Given the description of an element on the screen output the (x, y) to click on. 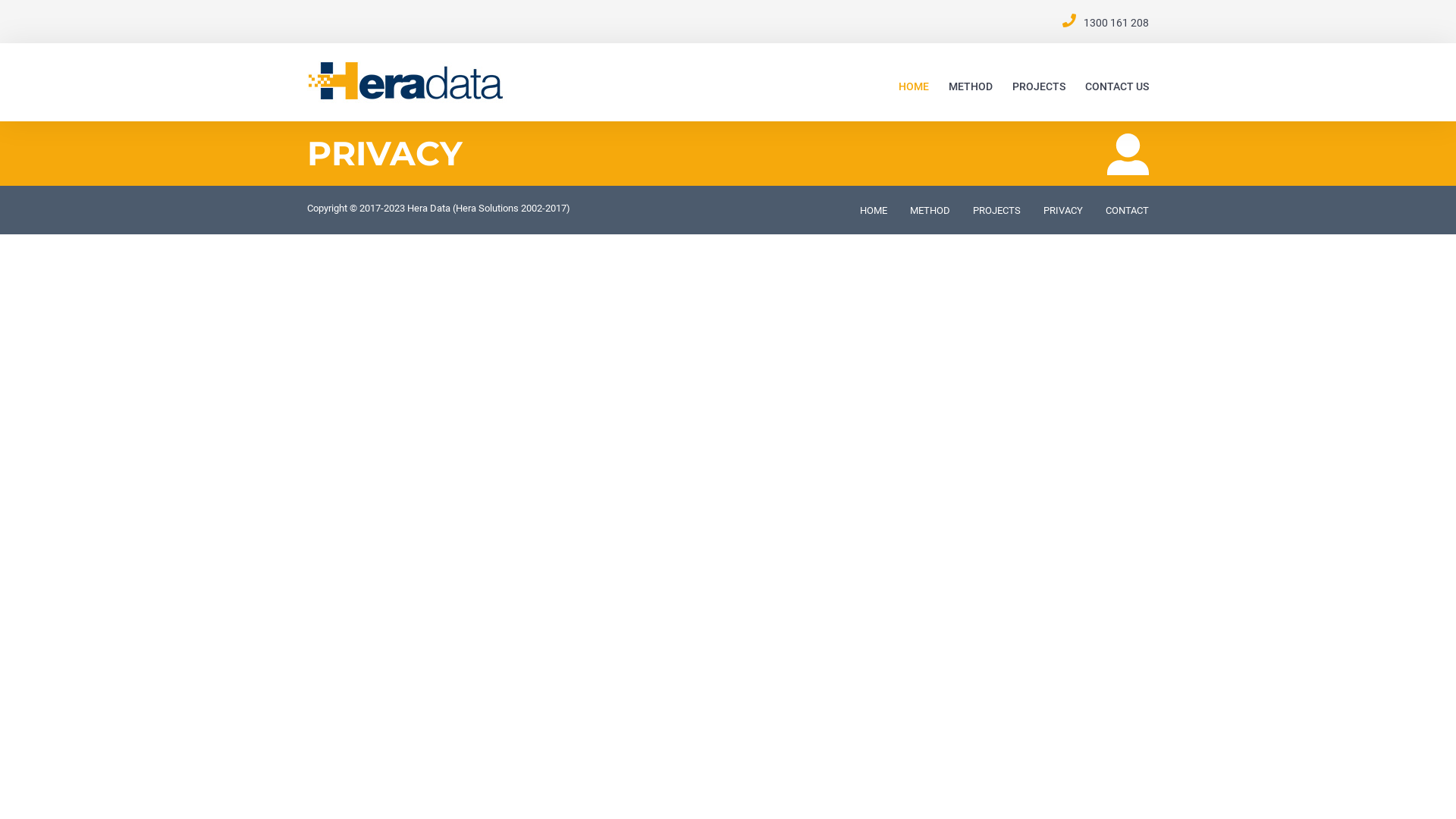
METHOD Element type: text (930, 210)
HOME Element type: text (913, 86)
HOME Element type: text (873, 210)
METHOD Element type: text (970, 86)
CONTACT US Element type: text (1116, 86)
PROJECTS Element type: text (996, 210)
PRIVACY Element type: text (1062, 210)
PROJECTS Element type: text (1038, 86)
CONTACT Element type: text (1126, 210)
1300 161 208 Element type: text (1115, 22)
